Given the description of an element on the screen output the (x, y) to click on. 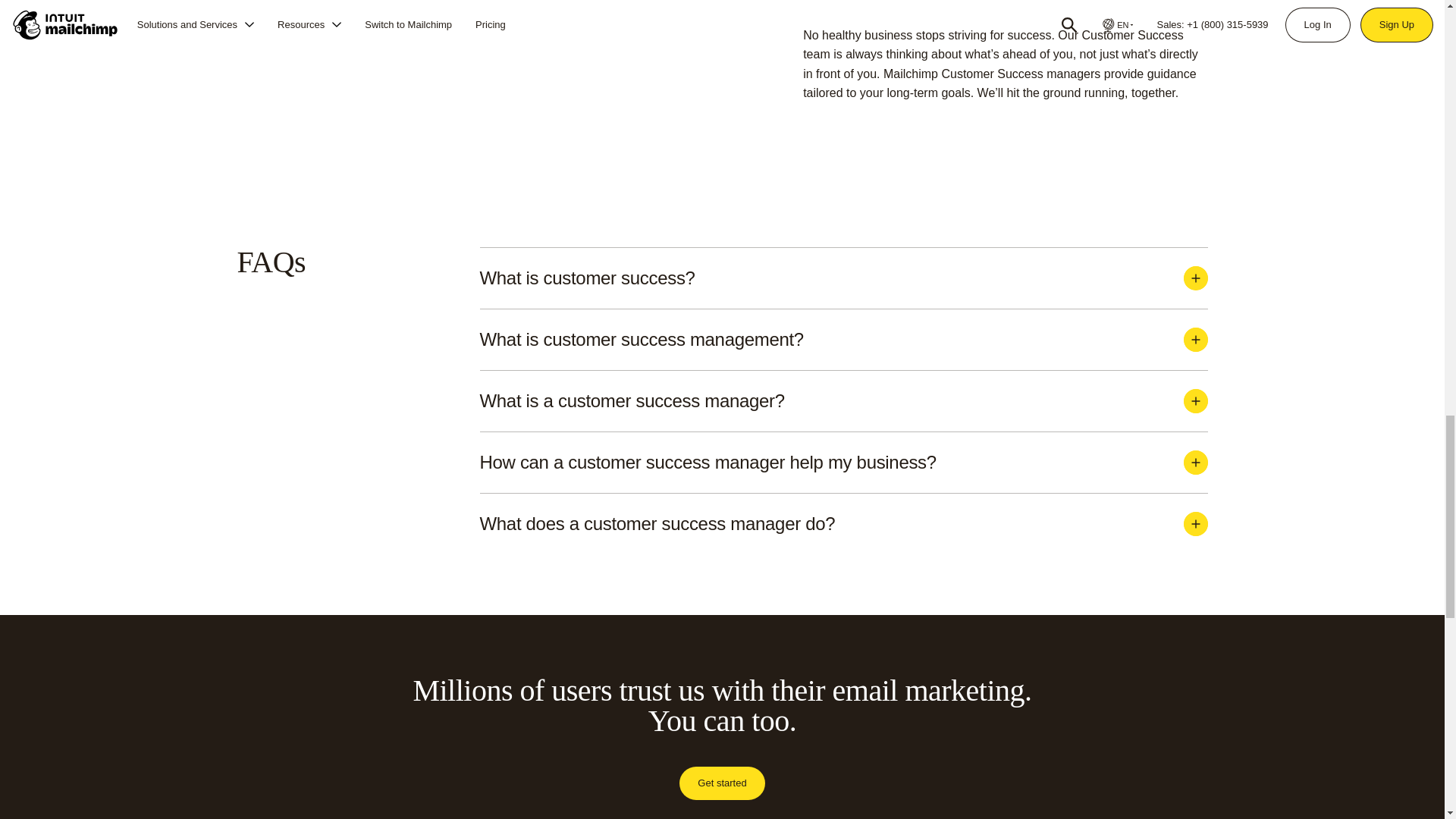
What is customer success management? (843, 339)
What is customer success? (843, 278)
Get started (721, 783)
What is a customer success manager? (843, 401)
What does a customer success manager do? (843, 523)
How can a customer success manager help my business? (843, 462)
